Given the description of an element on the screen output the (x, y) to click on. 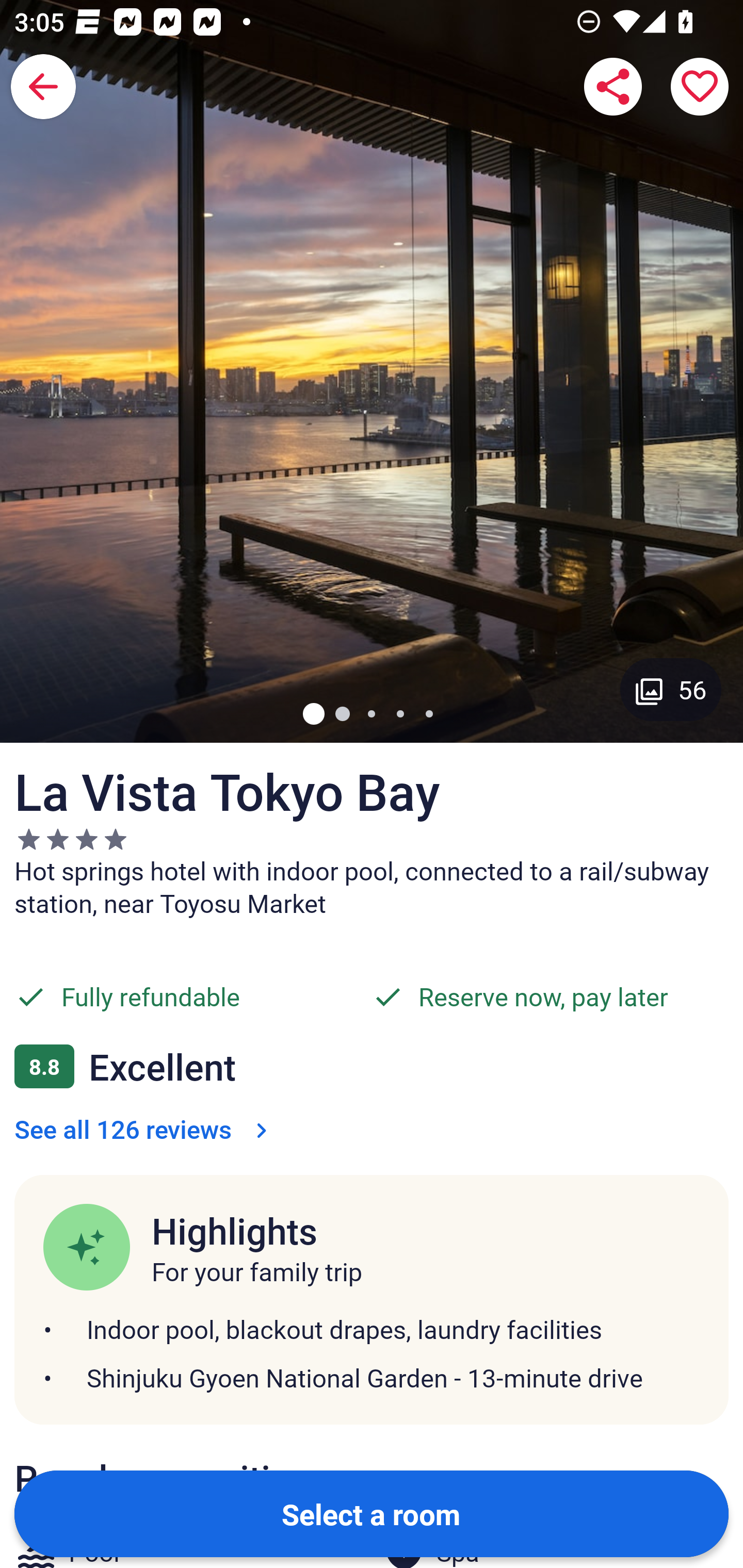
Back (43, 86)
Save property to a trip (699, 86)
Share La Vista Tokyo Bay (612, 87)
Gallery button with 56 images (670, 689)
See all 126 reviews See all 126 reviews Link (144, 1128)
Select a room Button Select a room (371, 1513)
